Given the description of an element on the screen output the (x, y) to click on. 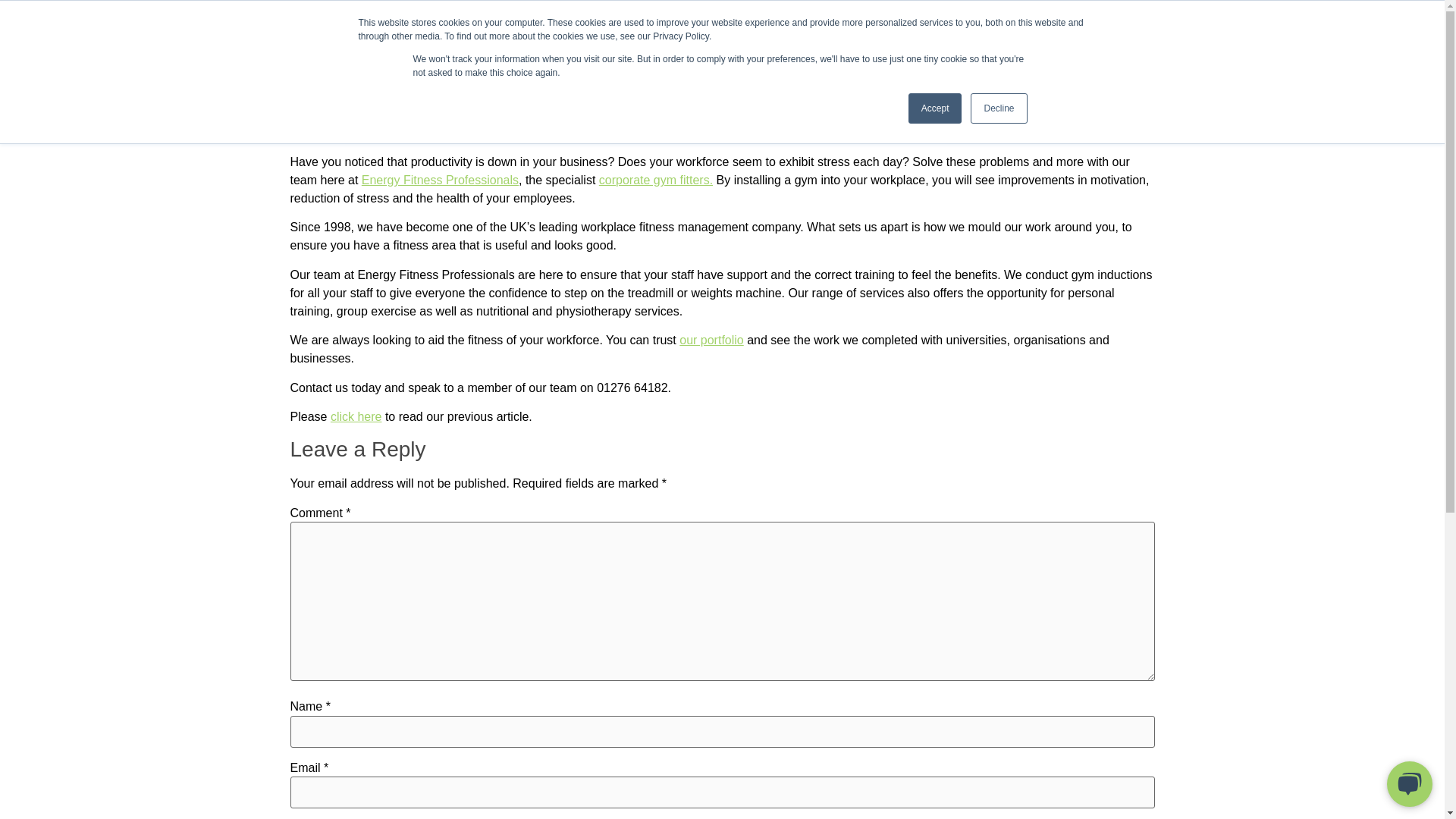
Benefits (924, 56)
Accept (935, 108)
our portfolio (711, 339)
What We Do (464, 56)
Energy Fitness Professionals (439, 179)
What We Do (464, 56)
Benefits (924, 56)
Contact (1135, 56)
Contact Us (1135, 56)
Case Studies (700, 56)
Decline (998, 108)
Case Studies (700, 56)
click here (355, 416)
corporate gym fitters. (655, 179)
